Given the description of an element on the screen output the (x, y) to click on. 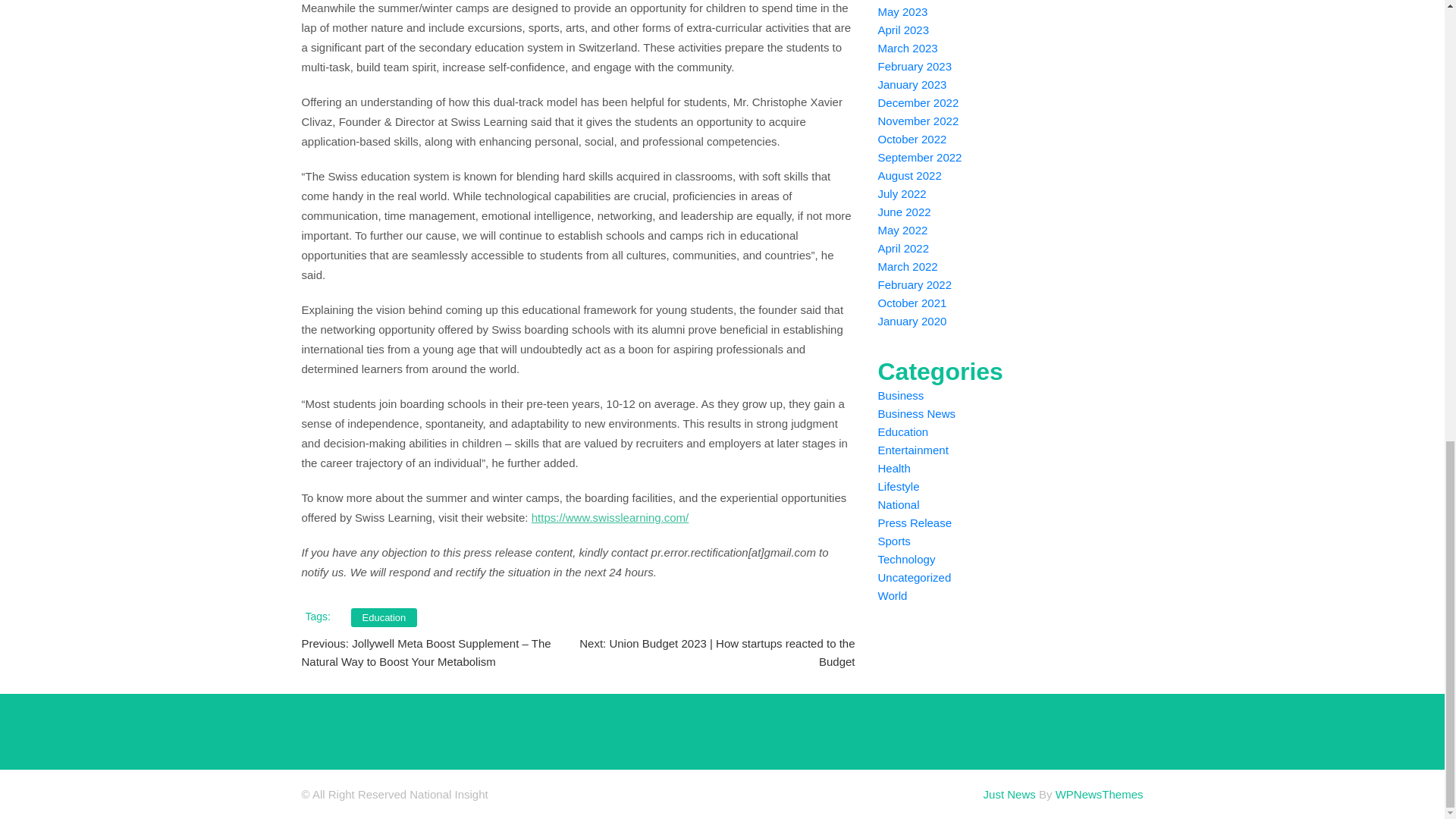
Education (383, 617)
